Given the description of an element on the screen output the (x, y) to click on. 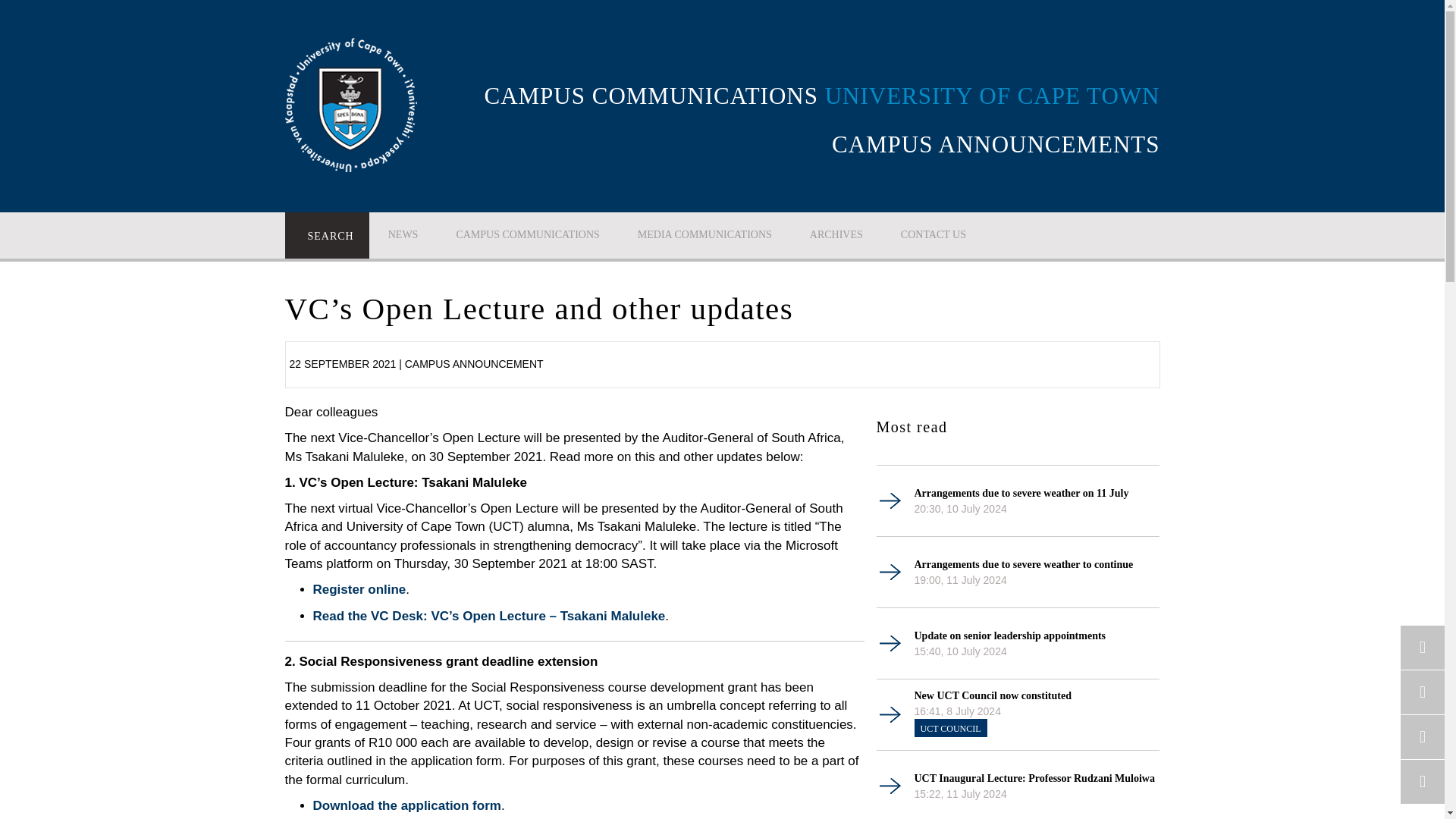
CAMPUS COMMUNICATIONS (526, 234)
NEWS (403, 234)
SEARCH (327, 235)
MEDIA COMMUNICATIONS (704, 234)
ARCHIVES (836, 234)
CONTACT US (933, 234)
Register online (359, 589)
Download the application form (406, 805)
